Given the description of an element on the screen output the (x, y) to click on. 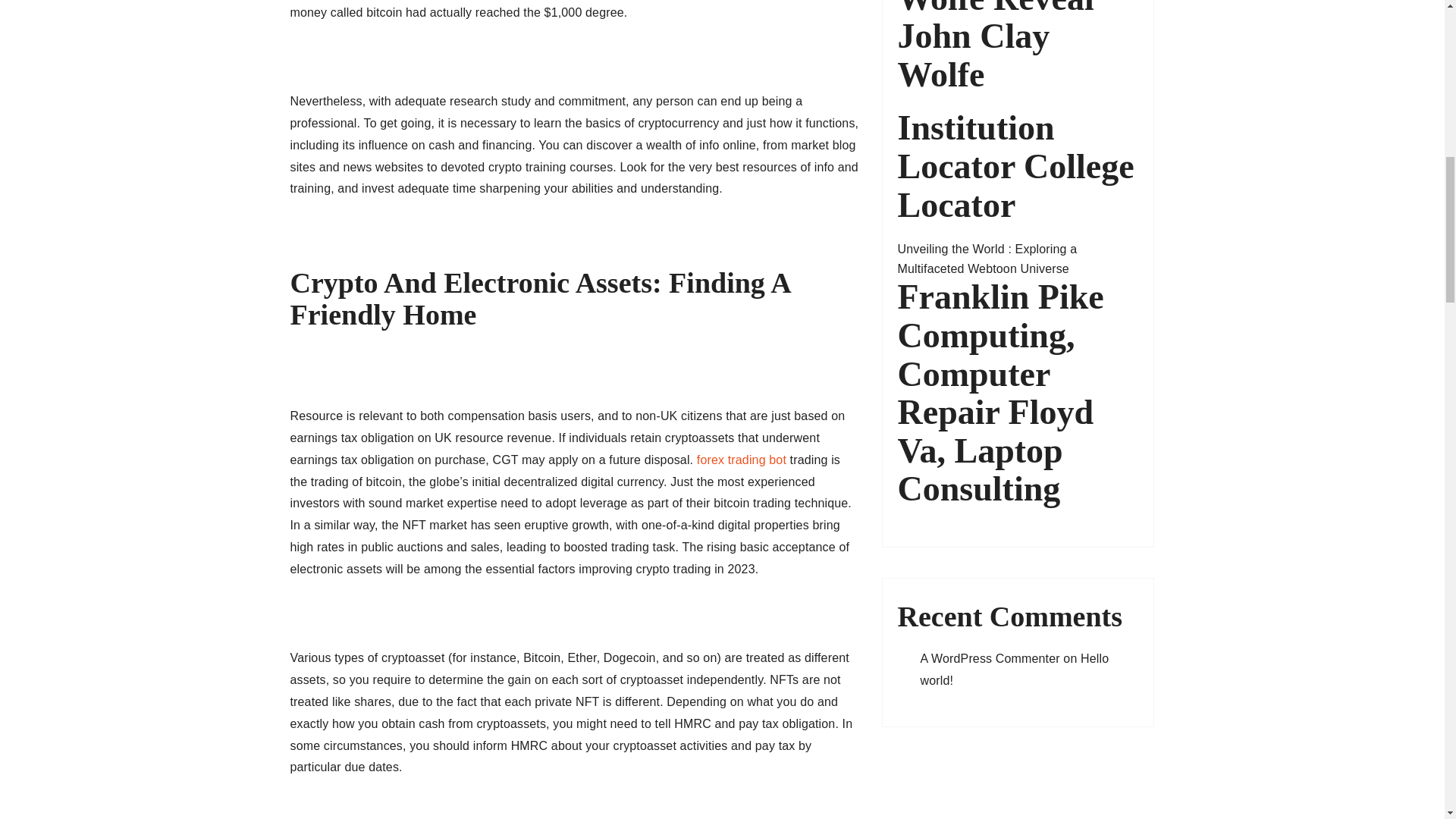
Hello world! (1014, 669)
forex trading bot (741, 459)
The John Clay Wolfe Reveal John Clay Wolfe (1018, 47)
A WordPress Commenter (989, 658)
Institution Locator College Locator (1018, 166)
